Given the description of an element on the screen output the (x, y) to click on. 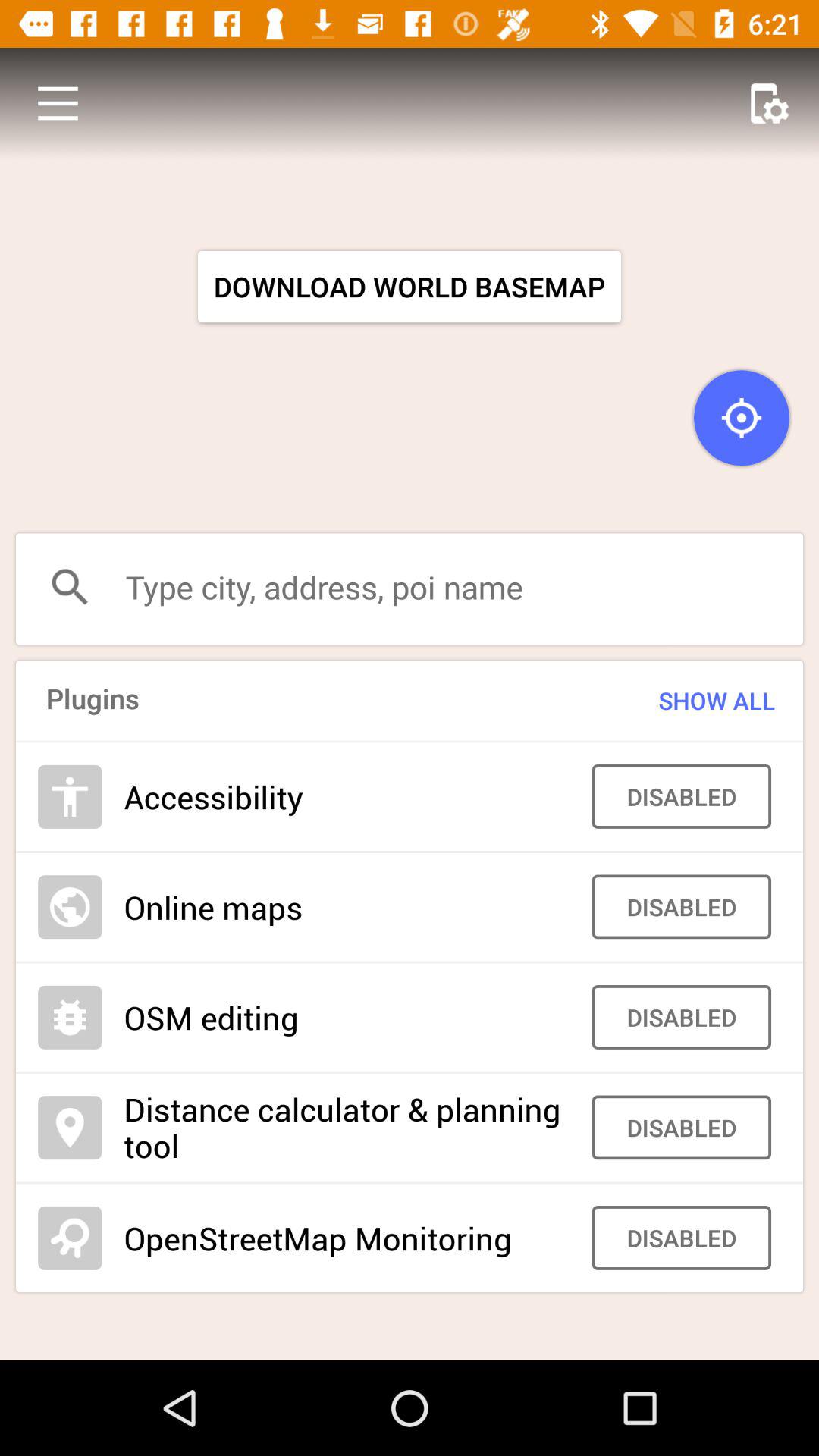
select the item above the type city address item (409, 286)
